Given the description of an element on the screen output the (x, y) to click on. 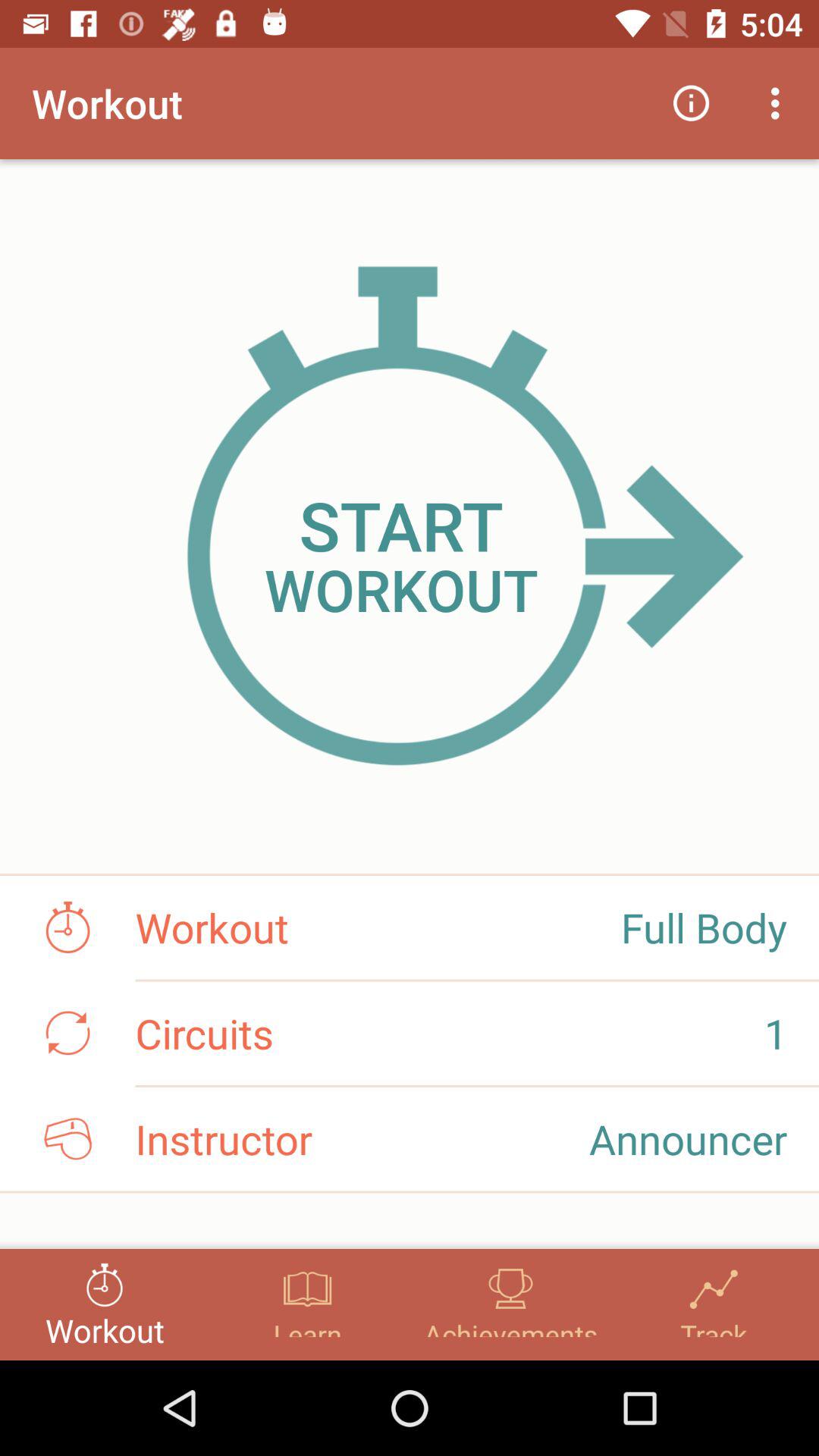
open the item next to workout icon (691, 103)
